Given the description of an element on the screen output the (x, y) to click on. 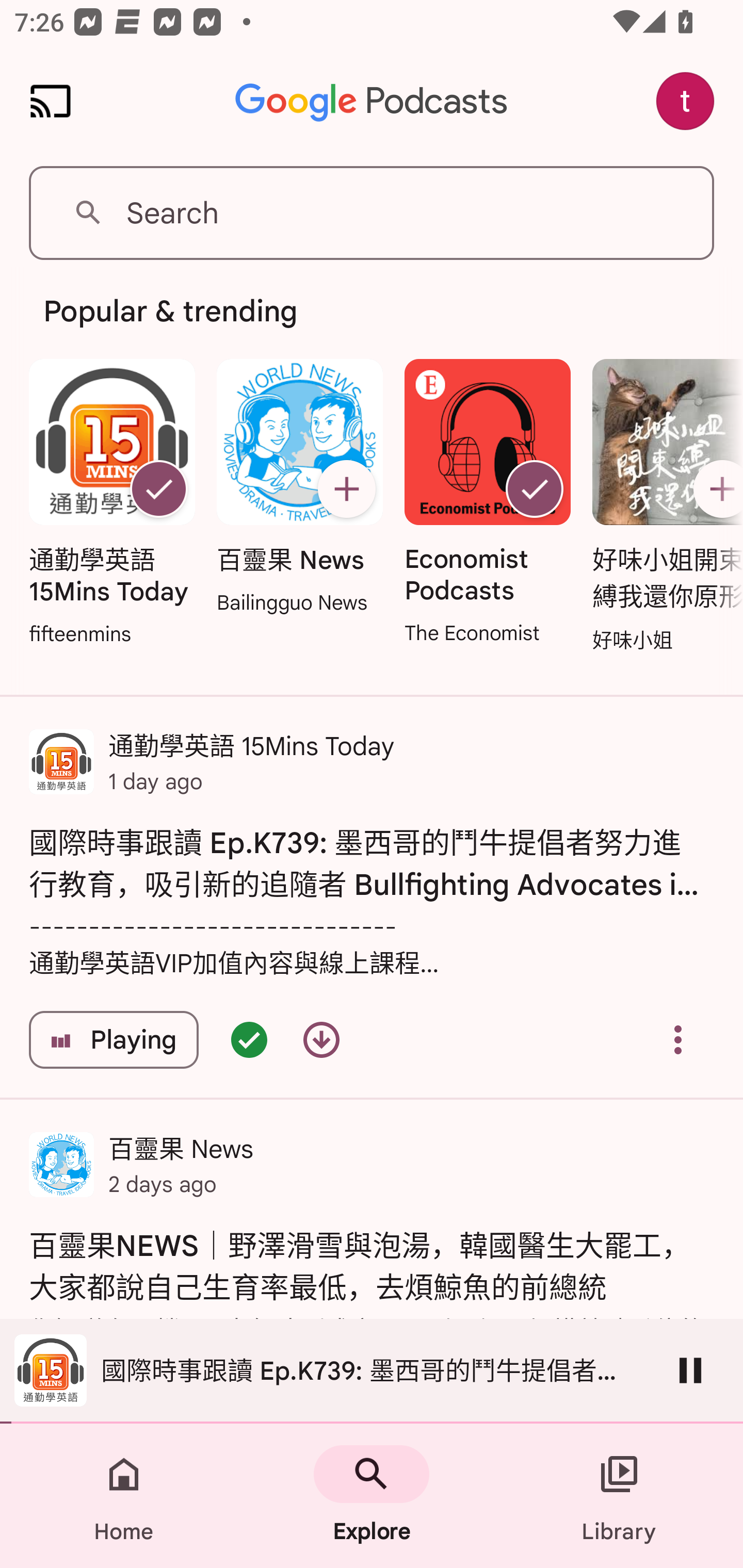
Cast. Disconnected (50, 101)
Search (371, 212)
百靈果 News Subscribe 百靈果 News Bailingguo News (299, 488)
好味小姐開束縛我還你原形 Subscribe 好味小姐開束縛我還你原形 好味小姐 (662, 507)
Unsubscribe (158, 489)
Subscribe (346, 489)
Unsubscribe (534, 489)
Subscribe (714, 489)
Episode queued - double tap for options (249, 1040)
Download episode (321, 1040)
Overflow menu (677, 1040)
Pause (690, 1370)
Home (123, 1495)
Library (619, 1495)
